Given the description of an element on the screen output the (x, y) to click on. 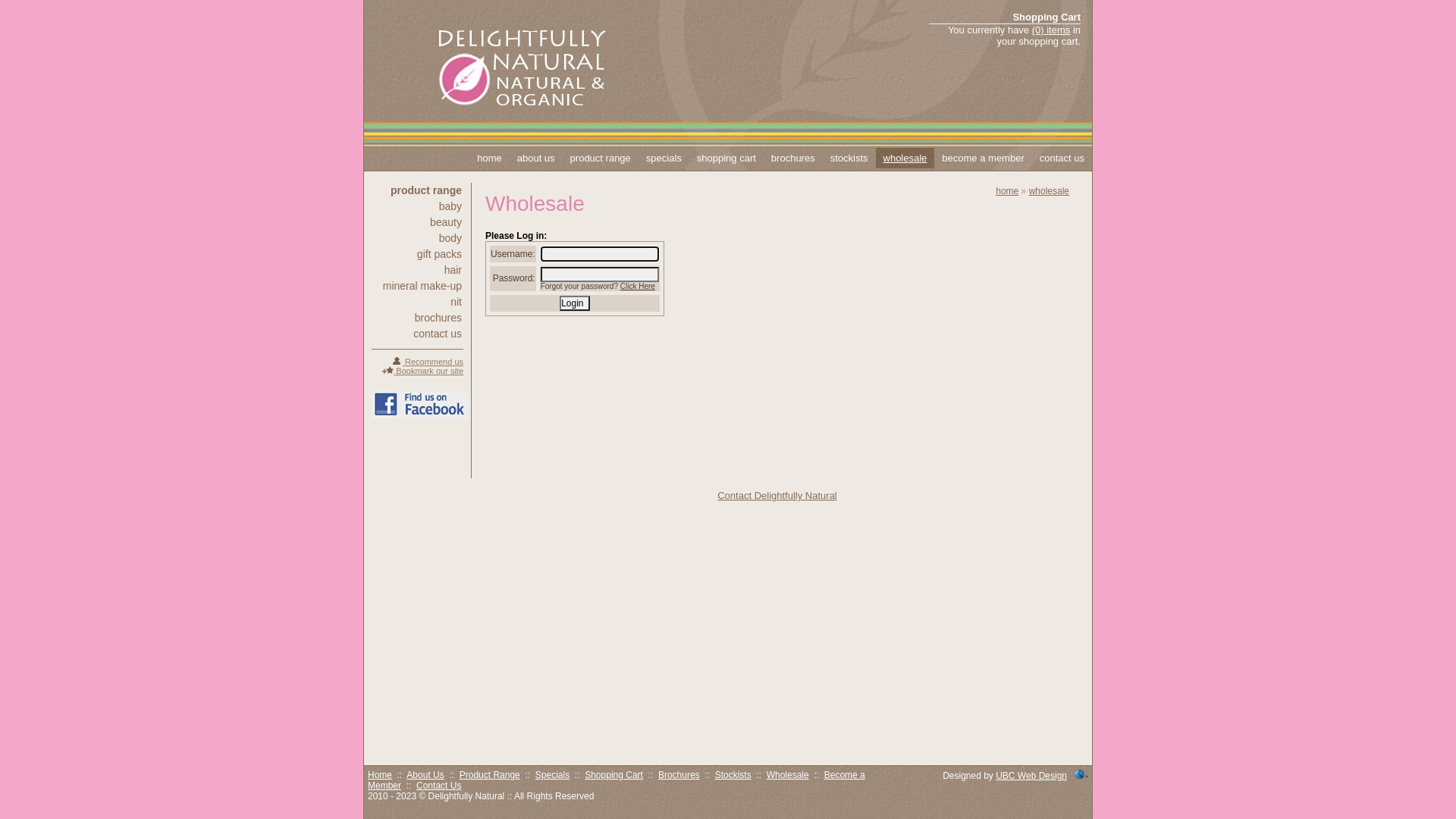
brochures Element type: text (417, 317)
Click Here Element type: text (637, 286)
shopping cart Element type: text (726, 157)
Specials Element type: text (552, 774)
baby Element type: text (417, 205)
Find Delightfully Natural on Facebook Element type: hover (419, 404)
nit Element type: text (417, 301)
Shopping Cart Element type: text (613, 774)
Wholesale Element type: text (787, 774)
About Us Element type: text (424, 774)
(0) items Element type: text (1051, 29)
home Element type: text (1006, 190)
gift packs Element type: text (417, 253)
Become a Member Element type: text (616, 779)
wholesale Element type: text (905, 157)
contact us Element type: text (1062, 157)
body Element type: text (417, 237)
Recommend us Element type: text (427, 361)
wholesale Element type: text (1049, 190)
home Element type: text (489, 157)
brochures Element type: text (792, 157)
stockists Element type: text (848, 157)
Bookmark our site Element type: text (422, 370)
about us Element type: text (535, 157)
beauty Element type: text (417, 221)
Login Element type: text (574, 302)
specials Element type: text (663, 157)
hair Element type: text (417, 269)
Brochures Element type: text (678, 774)
UBC Web Design Element type: text (1030, 775)
contact us Element type: text (417, 333)
become a member Element type: text (982, 157)
Home Element type: text (379, 774)
Contact Us Element type: text (438, 785)
product range Element type: text (417, 189)
Contact Delightfully Natural Element type: text (777, 495)
product range Element type: text (600, 157)
Stockists Element type: text (733, 774)
mineral make-up Element type: text (417, 285)
Product Range Element type: text (489, 774)
